Given the description of an element on the screen output the (x, y) to click on. 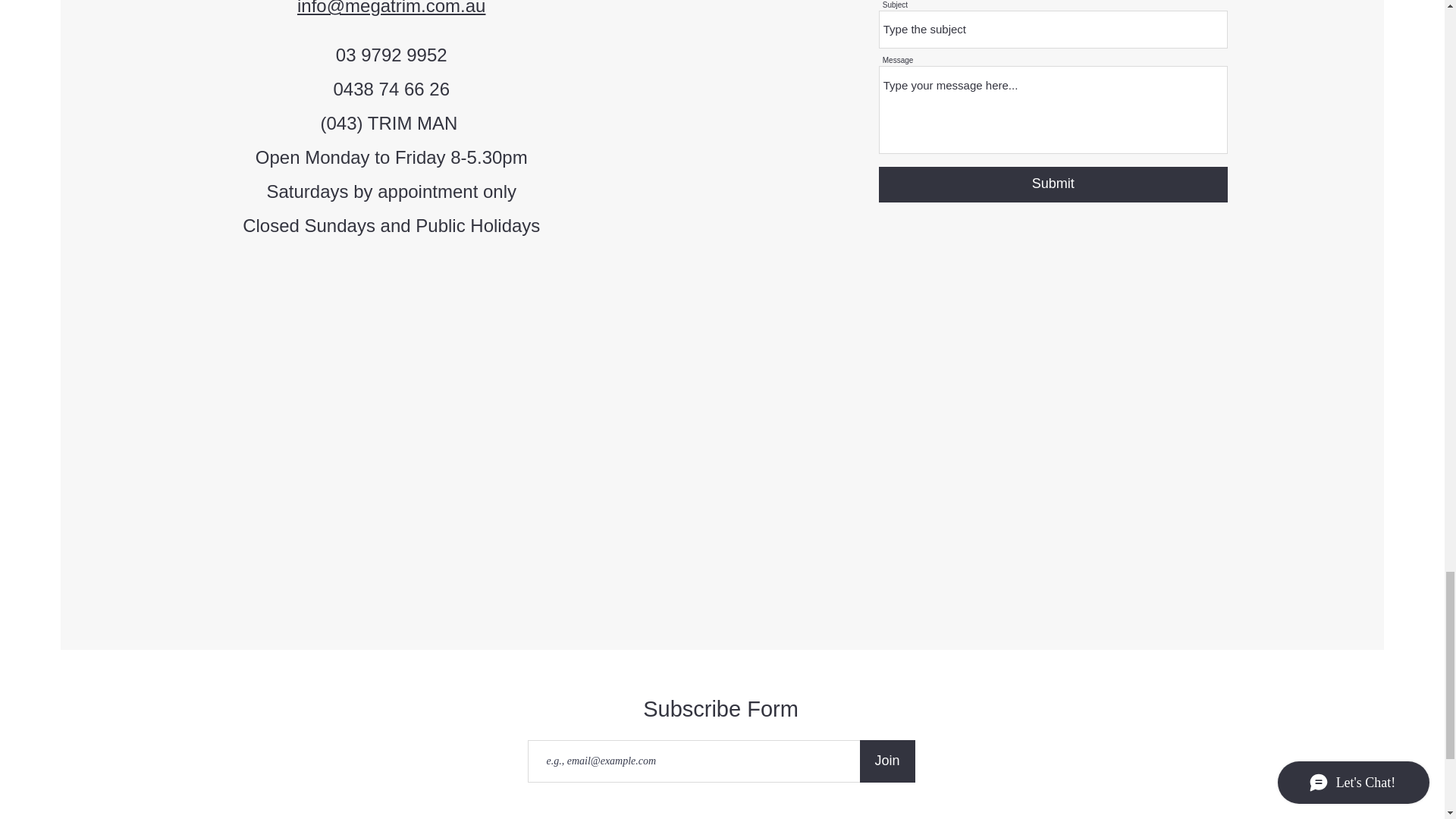
Join (887, 761)
Submit (1053, 184)
